Given the description of an element on the screen output the (x, y) to click on. 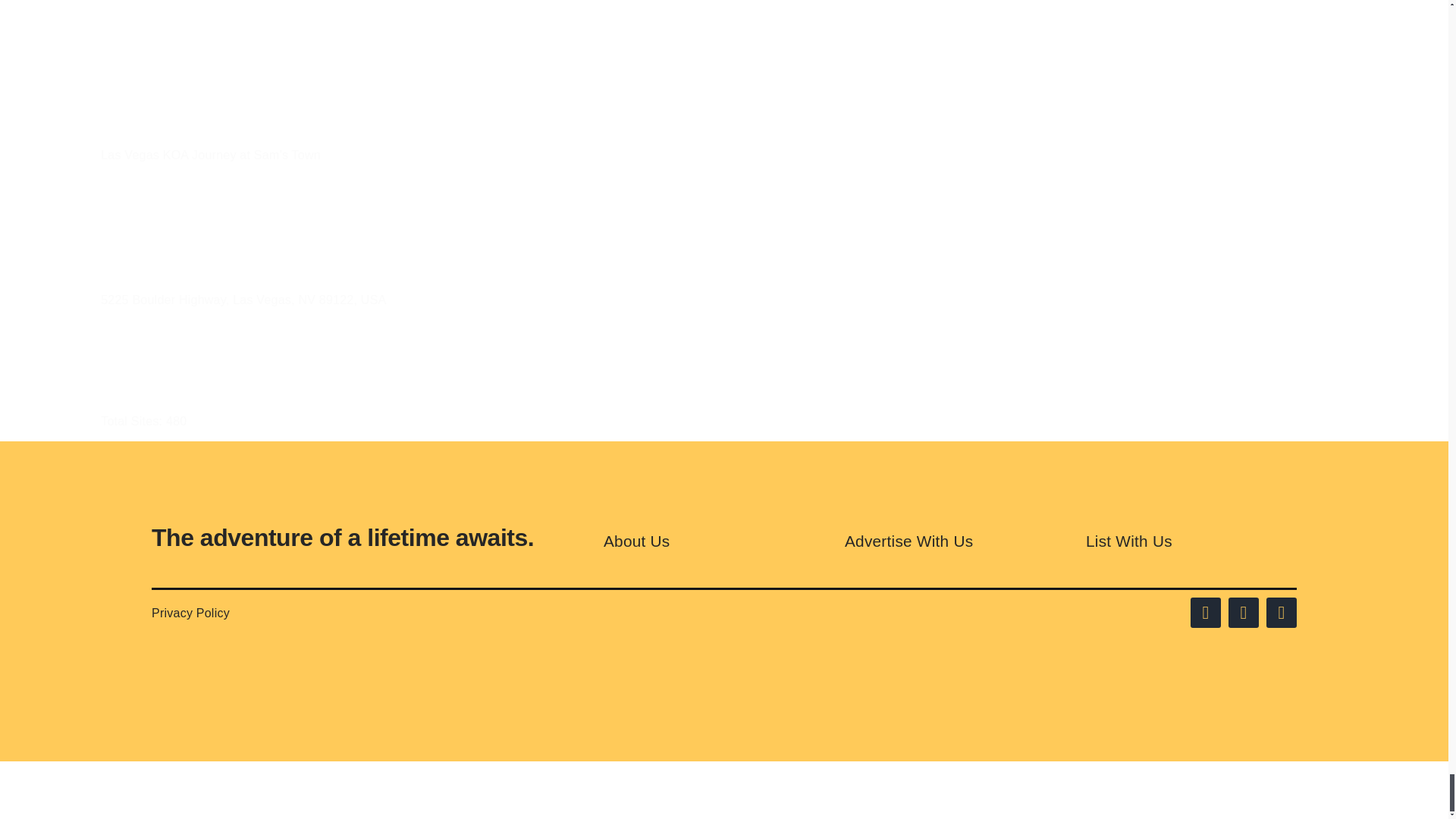
Twitter (1243, 612)
Facebook (1206, 612)
Instagram (1281, 612)
